Given the description of an element on the screen output the (x, y) to click on. 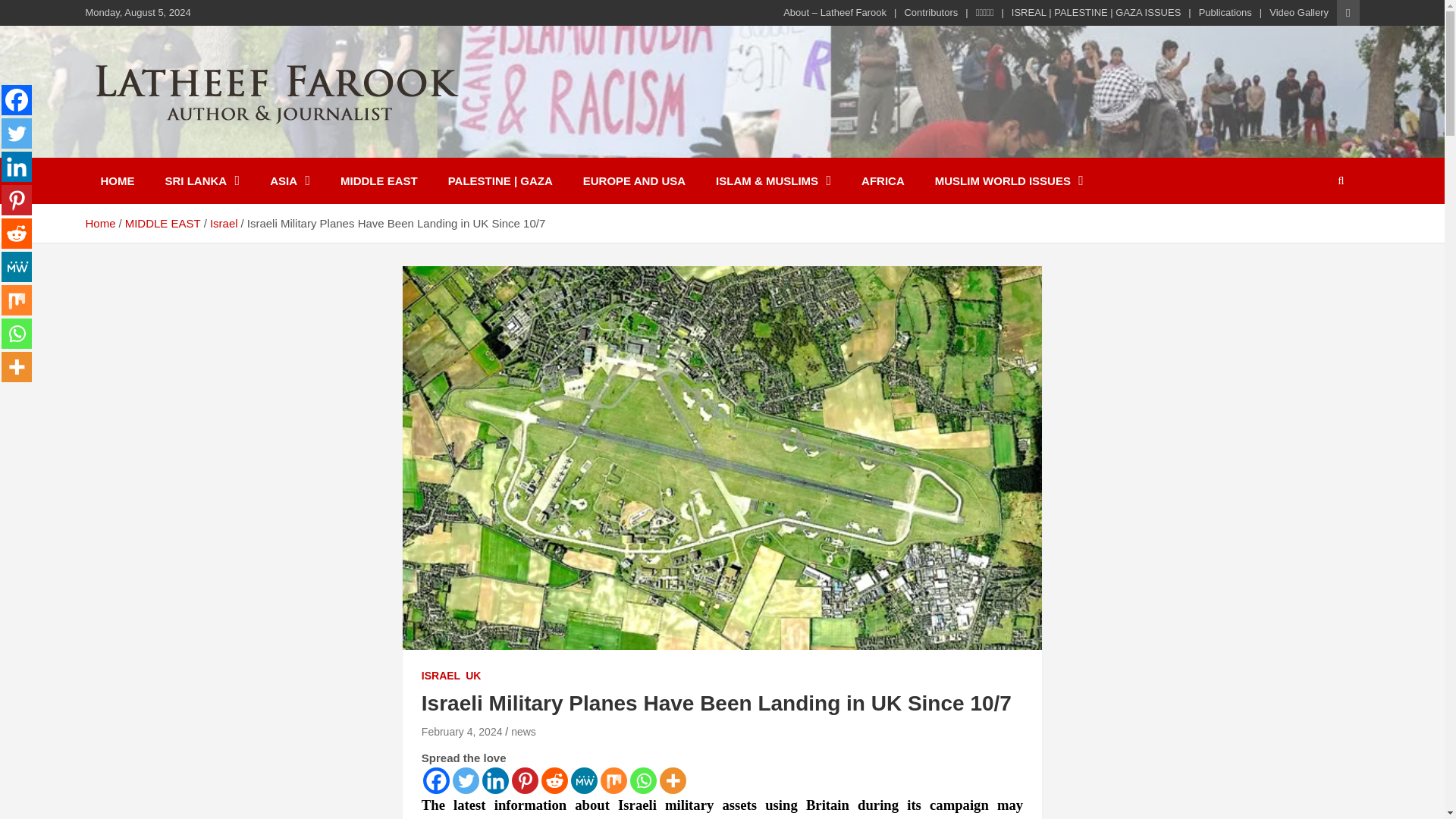
Contributors (931, 12)
Facebook (16, 100)
EUROPE AND USA (633, 180)
Latheef Farook (193, 146)
Pinterest (525, 780)
Publications (1225, 12)
Facebook (436, 780)
Linkedin (494, 780)
Video Gallery (1298, 12)
Whatsapp (643, 780)
More (672, 780)
Reddit (554, 780)
Mix (613, 780)
Twitter (16, 132)
MeWe (583, 780)
